Given the description of an element on the screen output the (x, y) to click on. 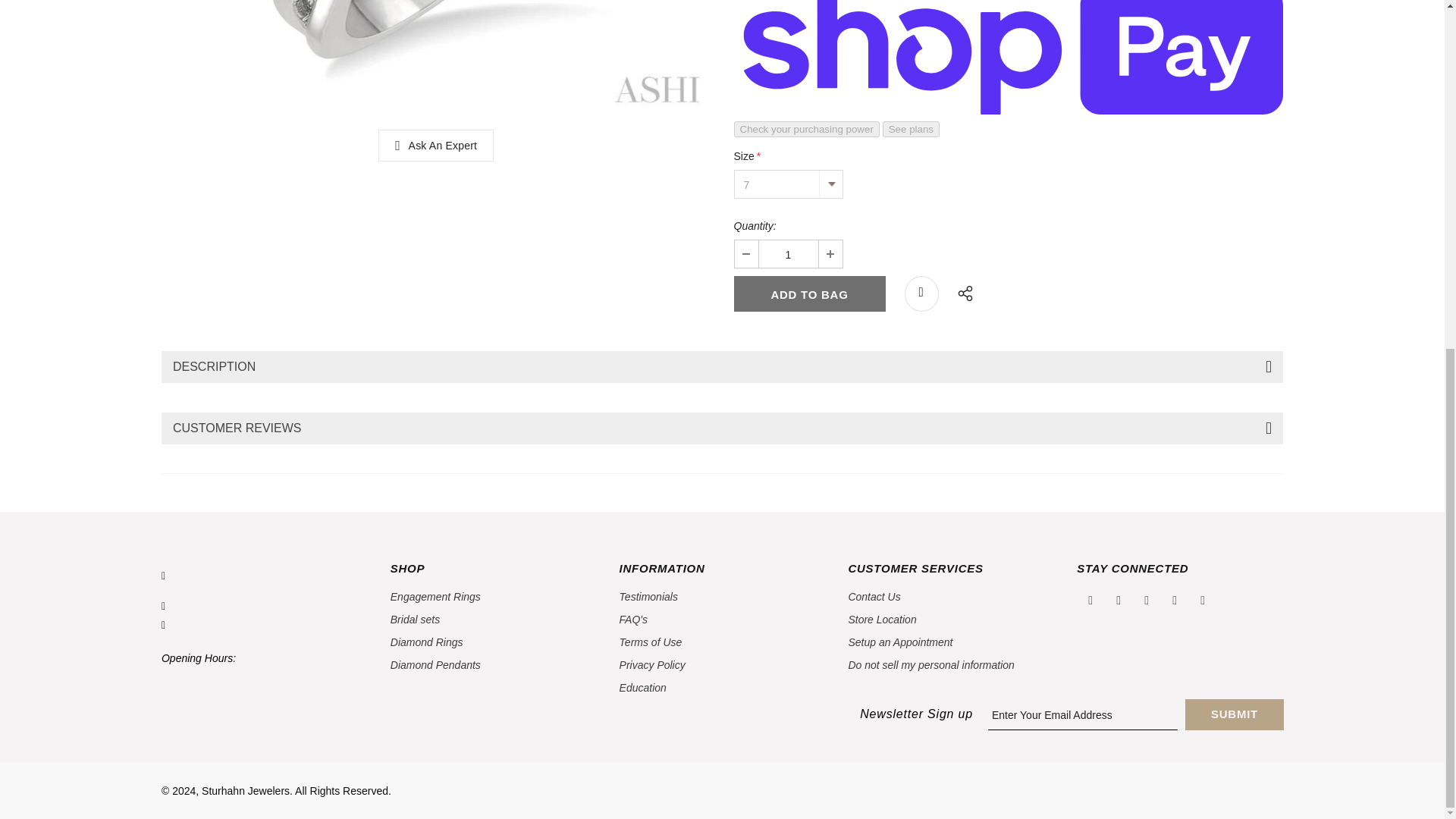
Submit (1234, 714)
1 (787, 253)
Add to Bag (809, 294)
